Given the description of an element on the screen output the (x, y) to click on. 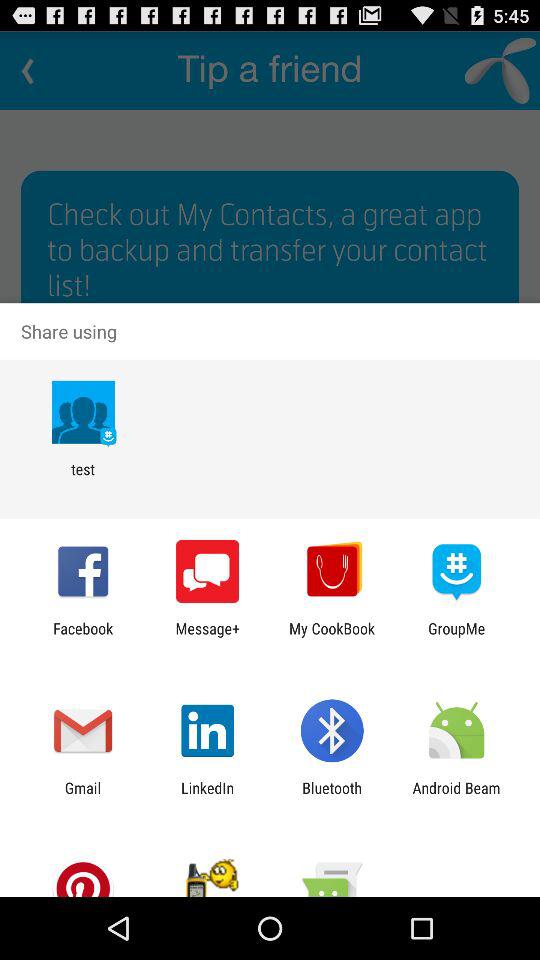
choose the test app (82, 478)
